Given the description of an element on the screen output the (x, y) to click on. 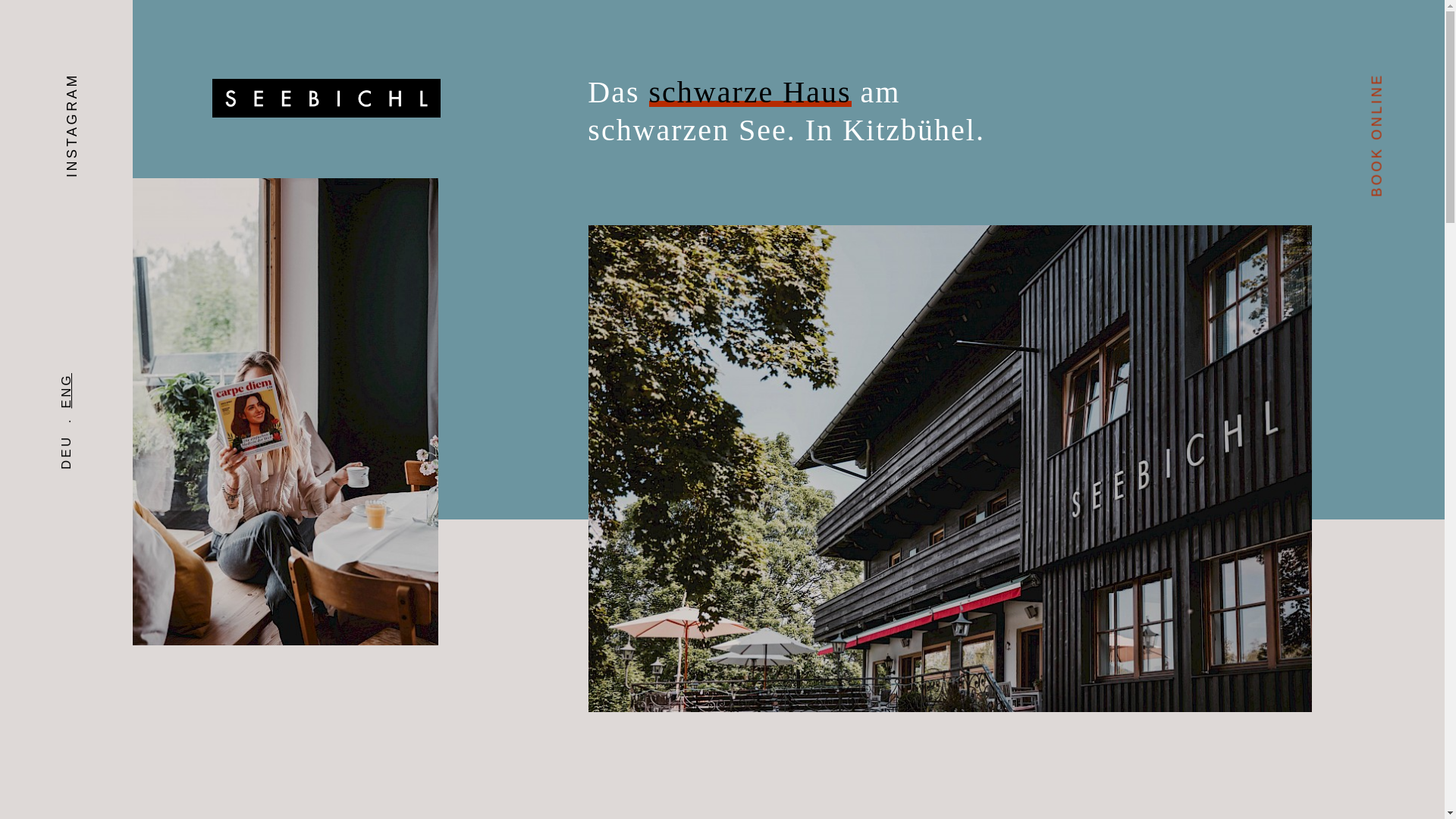
GOOD TO KNOW (283, 319)
ENG (76, 380)
DEU (76, 441)
FOODIE (246, 261)
schwarze Haus (750, 92)
INSTAGRAM (114, 82)
26 ROOMS (258, 232)
THE PICTURE BOOK (301, 290)
